Given the description of an element on the screen output the (x, y) to click on. 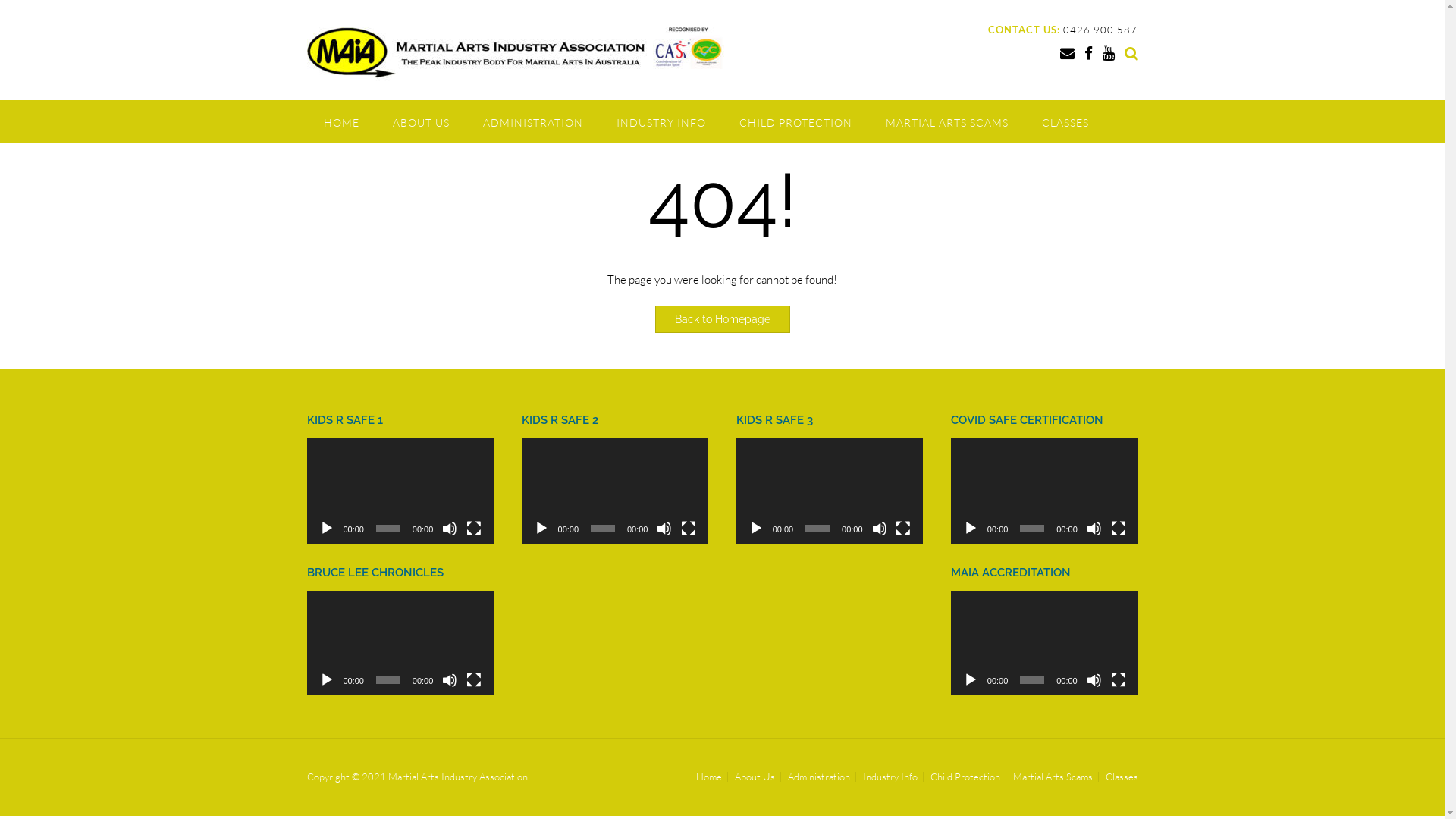
Child Protection Element type: text (965, 776)
View my YouTube Channel Element type: hover (1108, 52)
ADMINISTRATION Element type: text (532, 121)
CLASSES Element type: text (1065, 121)
Fullscreen Element type: hover (902, 528)
Fullscreen Element type: hover (473, 679)
Classes Element type: text (1118, 776)
INDUSTRY INFO Element type: text (660, 121)
Fullscreen Element type: hover (688, 528)
Fullscreen Element type: hover (1118, 679)
Administration Element type: text (818, 776)
Play Element type: hover (755, 528)
HOME Element type: text (340, 121)
Mute Element type: hover (1093, 528)
Find me on Facebook Element type: hover (1088, 52)
Search my website Element type: hover (1130, 52)
Martial Arts Scams Element type: text (1052, 776)
Home Element type: text (708, 776)
Fullscreen Element type: hover (1118, 528)
Fullscreen Element type: hover (473, 528)
About Us Element type: text (754, 776)
Mute Element type: hover (449, 679)
Mute Element type: hover (1093, 679)
Send me an email Element type: hover (1067, 52)
Play Element type: hover (541, 528)
MARTIAL ARTS SCAMS Element type: text (947, 121)
Industry Info Element type: text (889, 776)
ABOUT US Element type: text (421, 121)
Mute Element type: hover (663, 528)
Martial Arts Industry Association Element type: hover (514, 51)
Back to Homepage Element type: text (722, 318)
Play Element type: hover (970, 528)
CHILD PROTECTION Element type: text (794, 121)
Mute Element type: hover (449, 528)
Play Element type: hover (970, 679)
Play Element type: hover (325, 528)
Play Element type: hover (325, 679)
Mute Element type: hover (879, 528)
